Given the description of an element on the screen output the (x, y) to click on. 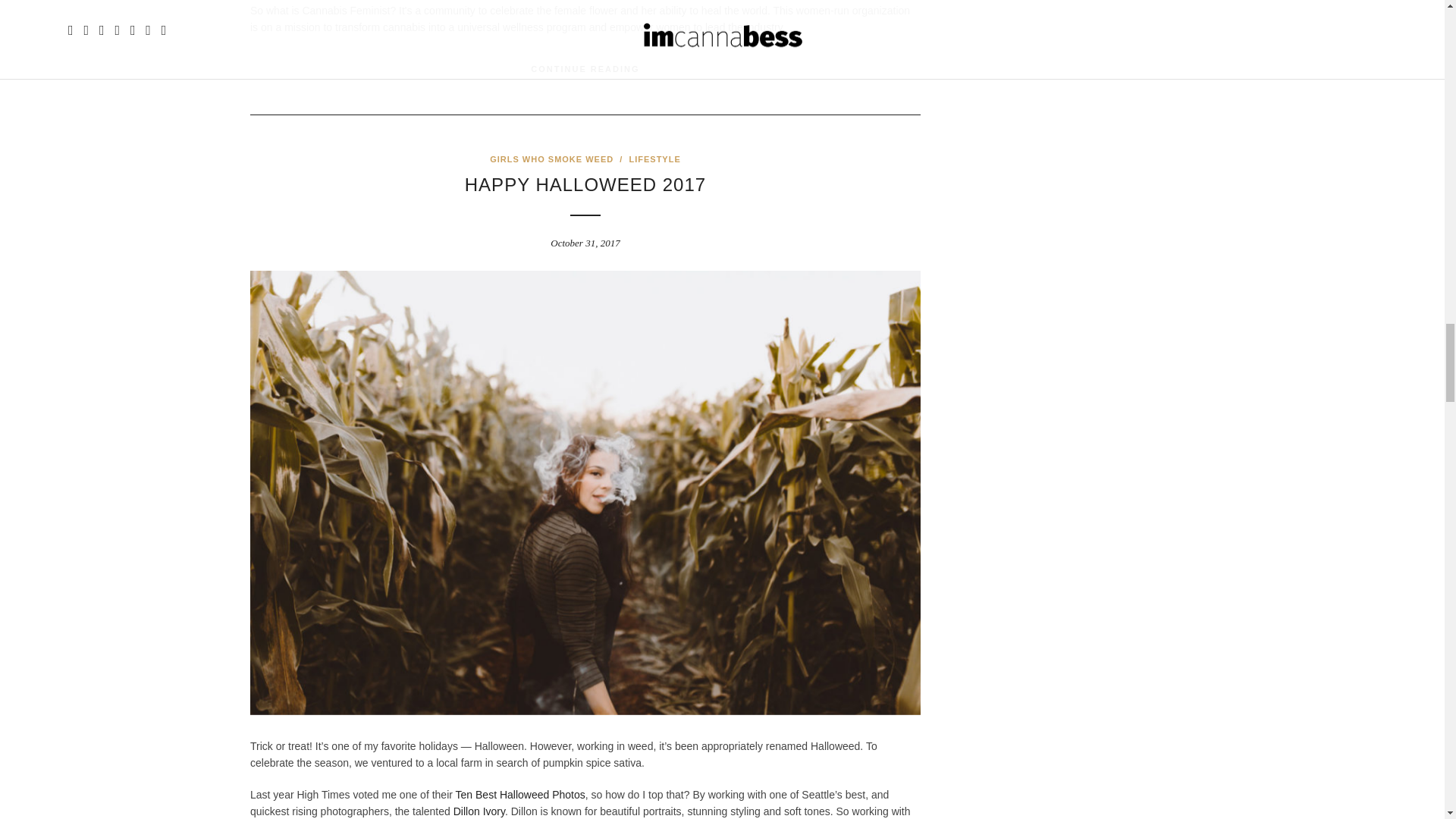
Happy Halloweed 2017 (585, 184)
